Given the description of an element on the screen output the (x, y) to click on. 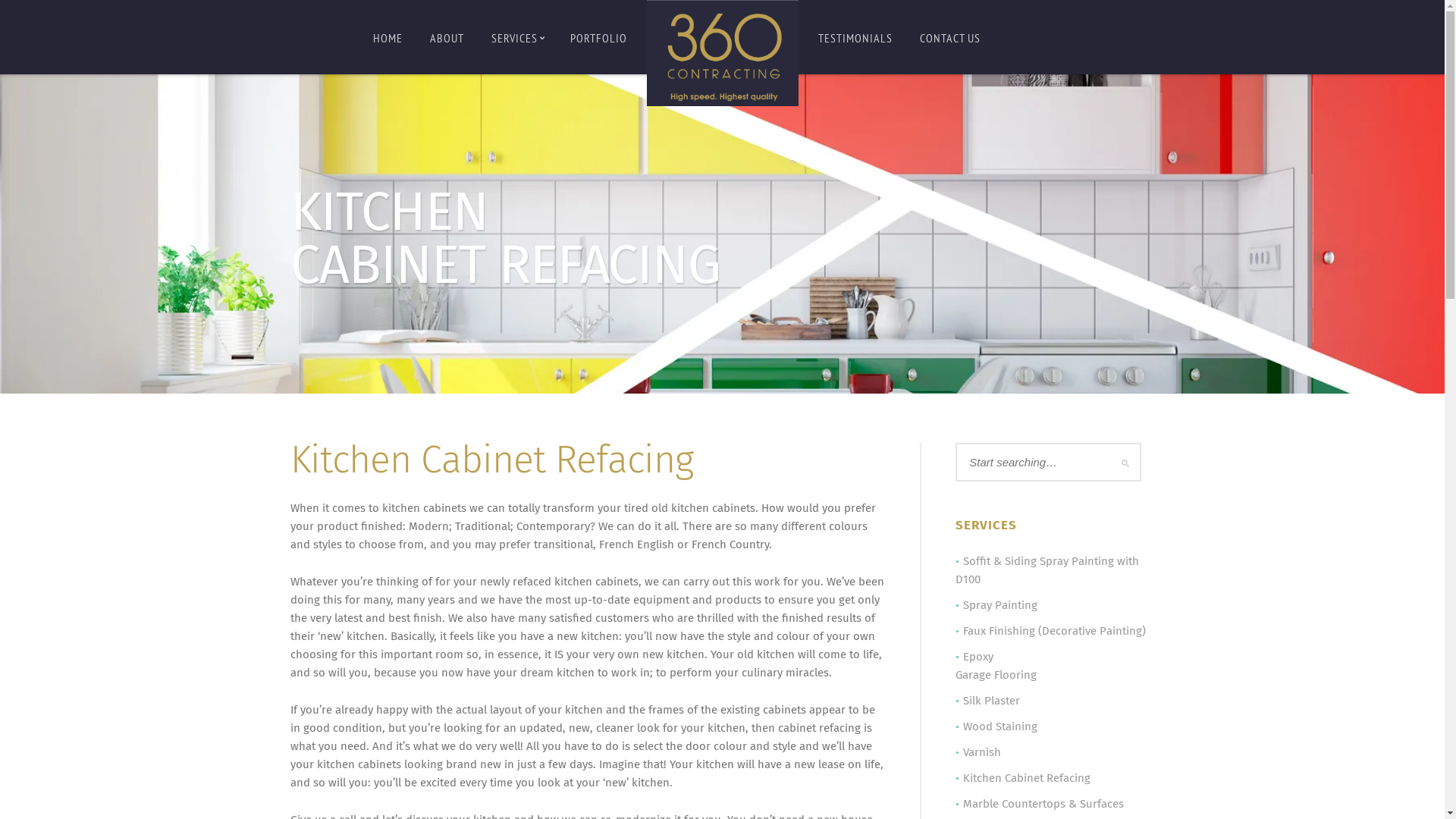
ABOUT Element type: text (445, 37)
CONTACT US Element type: text (949, 37)
Varnish Element type: text (982, 752)
360 Contracting | Spray Painting | Renovations | Contractors Element type: hover (721, 52)
Marble Countertops & Surfaces Element type: text (1043, 803)
Epoxy
Garage Flooring Element type: text (995, 665)
Search Element type: text (24, 8)
SERVICES Element type: text (516, 37)
Soffit & Siding Spray Painting with D100 Element type: text (1047, 570)
Kitchen Cabinet Refacing Element type: text (1026, 778)
PORTFOLIO Element type: text (598, 37)
TESTIMONIALS Element type: text (854, 37)
Silk Plaster Element type: text (991, 700)
HOME Element type: text (387, 37)
Spray Painting Element type: text (1000, 605)
Faux Finishing (Decorative Painting) Element type: text (1054, 631)
Wood Staining Element type: text (1000, 726)
